Given the description of an element on the screen output the (x, y) to click on. 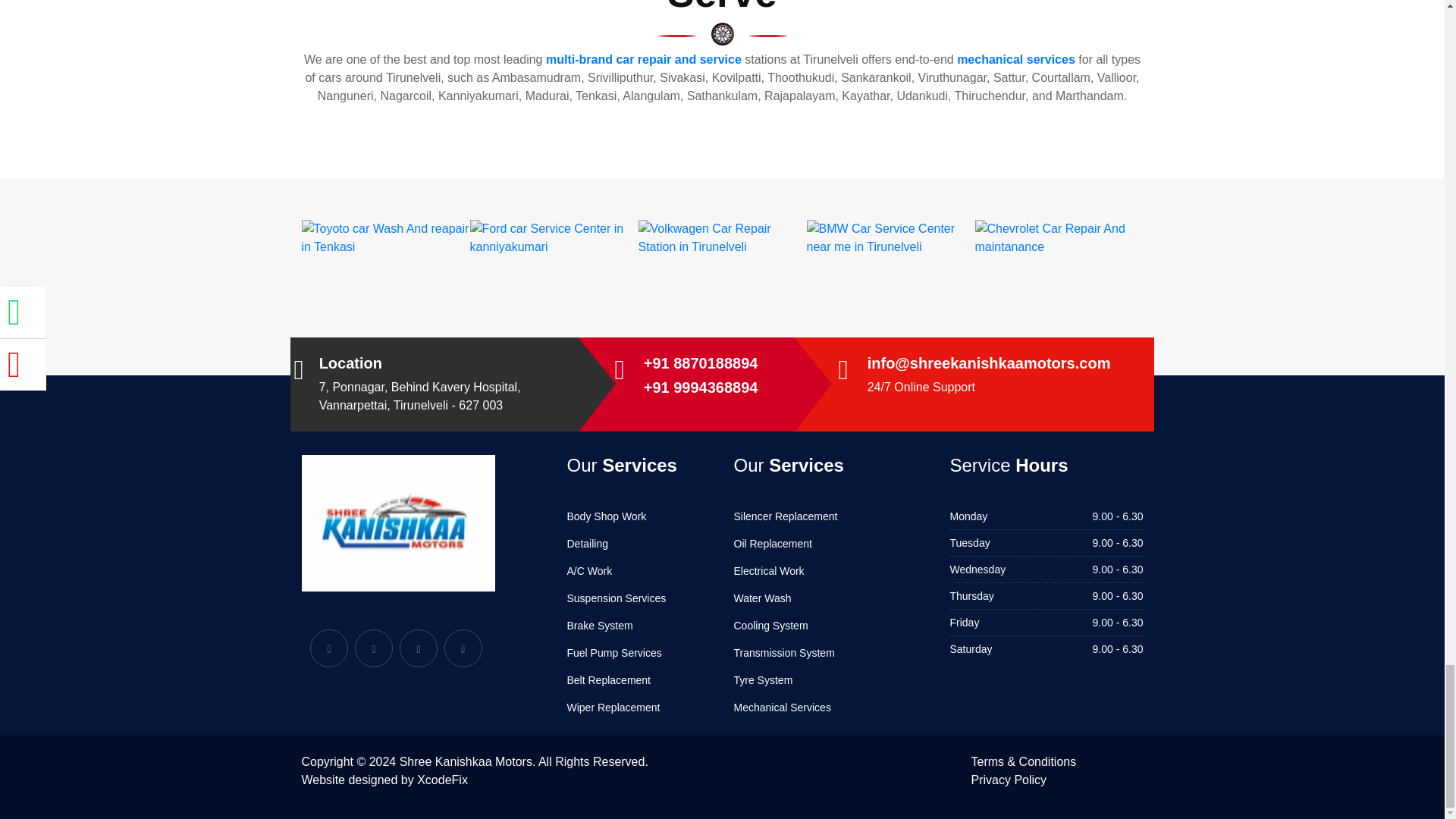
Pinterest - Shree kanishkaa Motors (418, 648)
Twitter - Shree kanishkaa Motors (374, 648)
Car Body Shop Work (606, 516)
Mail to Shree Kanishkaa Car Service Station (988, 362)
Car Detailing Work (587, 543)
Instagram - Shree kanishkaa Motors (462, 648)
Call to Shree Kanishkaa Car Service Station (700, 387)
mechanical services (1015, 59)
Call to Shree Kanishkaa Car Service Station (700, 362)
FaceBook - Shree kanishkaa Motors (328, 648)
multi-brand car repair and service (643, 59)
